Given the description of an element on the screen output the (x, y) to click on. 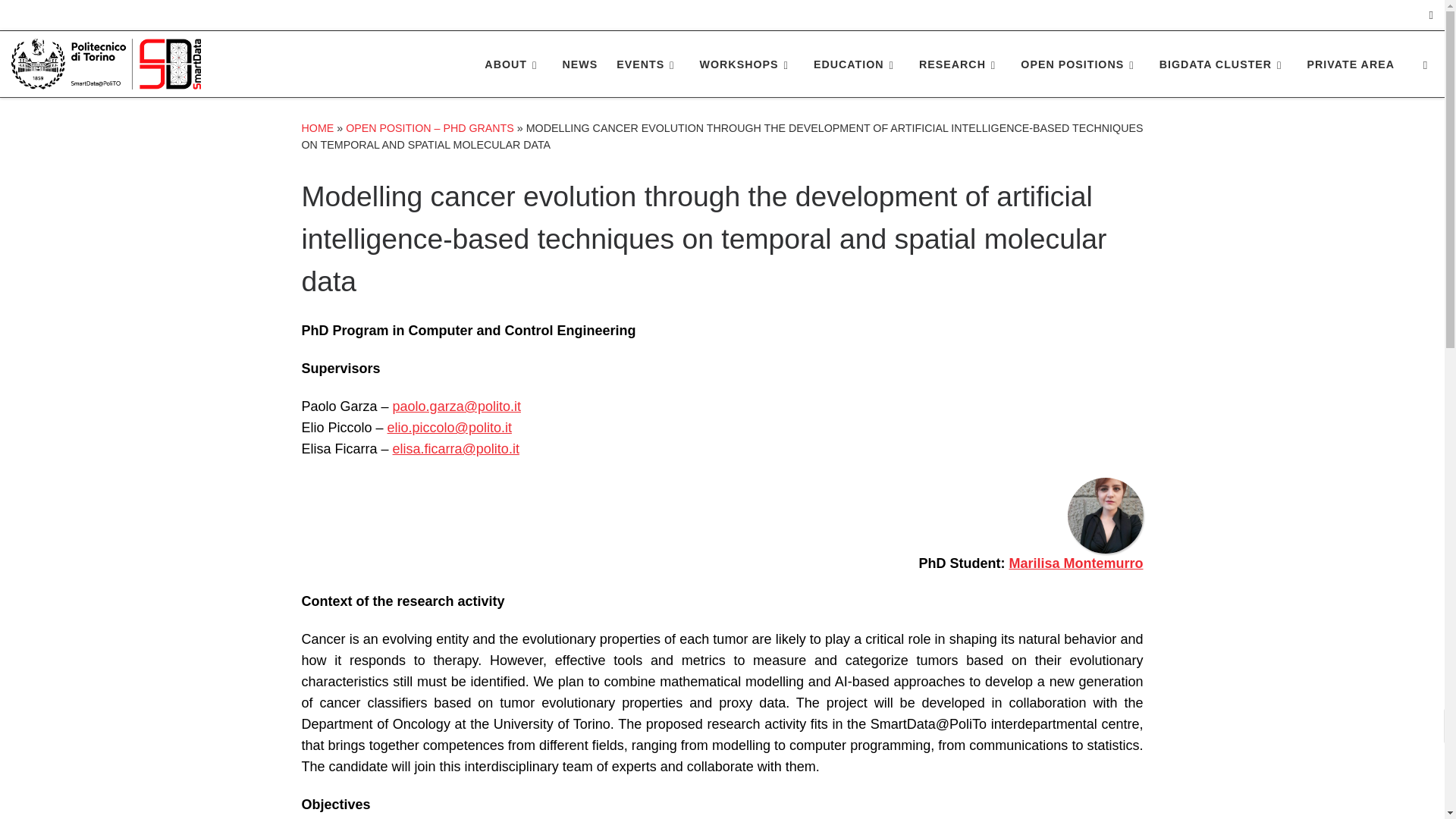
NEWS (579, 64)
Skip to content (60, 20)
RESEARCH (960, 64)
EDUCATION (857, 64)
EVENTS (648, 64)
OPEN POSITIONS (1080, 64)
ABOUT (514, 64)
WORKSHOPS (746, 64)
BIGDATA CLUSTER (1223, 64)
